Given the description of an element on the screen output the (x, y) to click on. 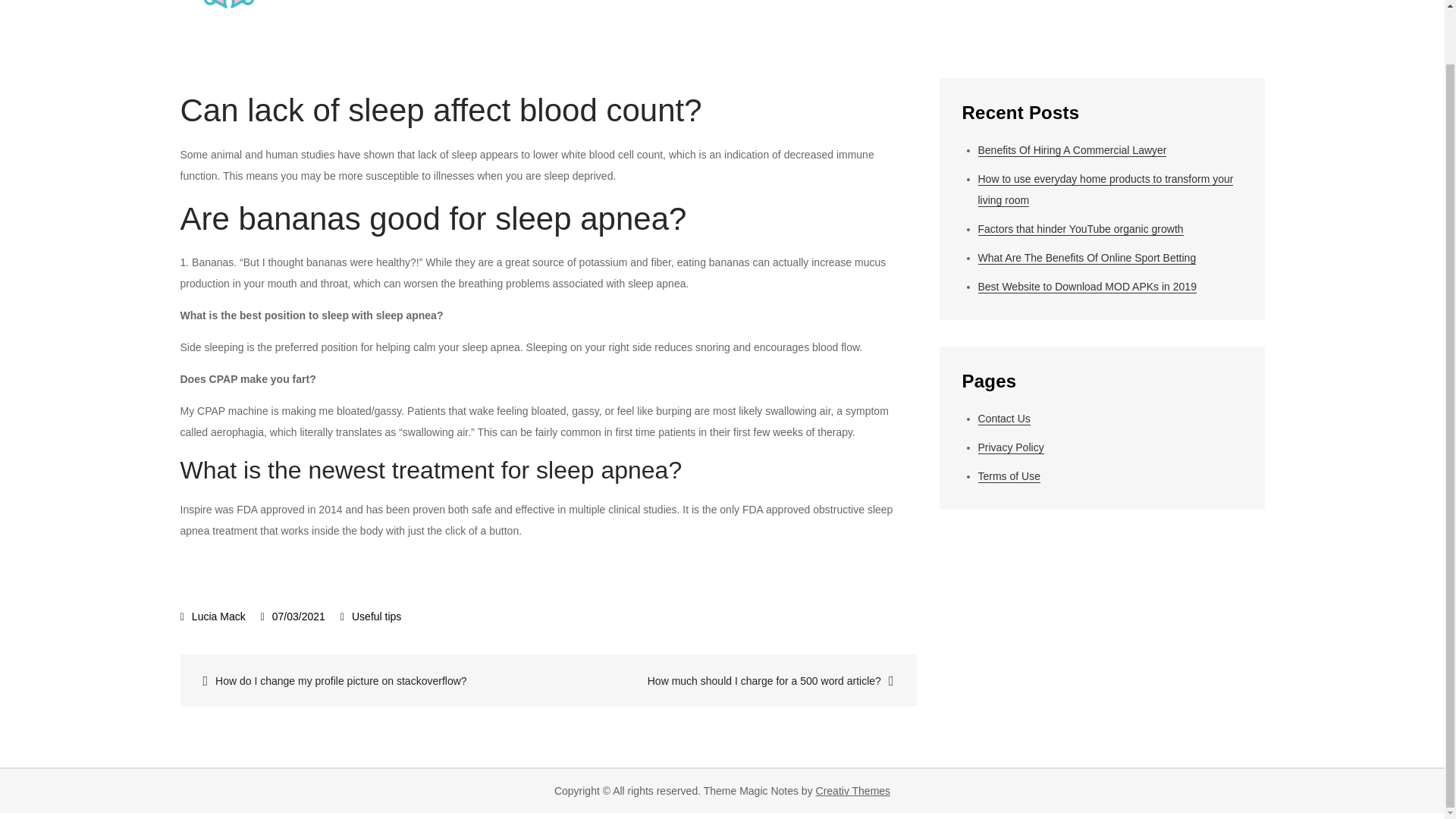
Benefits Of Hiring A Commercial Lawyer (1072, 150)
Miscellaneous (1195, 8)
Best Website to Download MOD APKs in 2019 (1087, 286)
How much should I charge for a 500 word article? (730, 680)
Creativ Themes (853, 790)
Contributing (1083, 8)
Contact Us (1004, 418)
Home (665, 8)
Lifehacks (887, 8)
How do I change my profile picture on stackoverflow? (366, 680)
Lucia Mack (213, 616)
Terms of Use (1009, 476)
Useful tips (376, 616)
Privacy Policy (1010, 447)
Popular questions (772, 8)
